Given the description of an element on the screen output the (x, y) to click on. 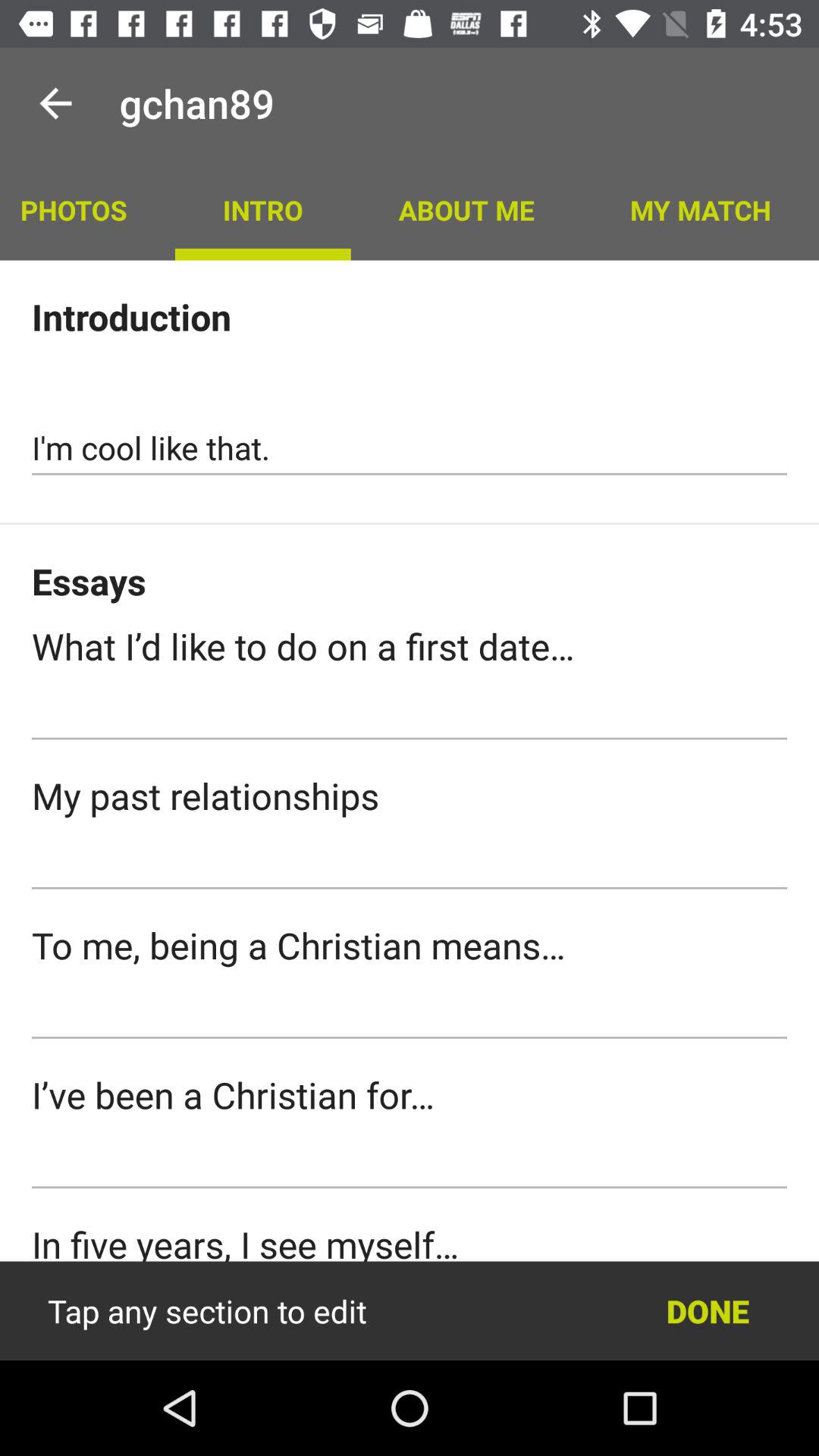
opens keyboard (409, 1011)
